Given the description of an element on the screen output the (x, y) to click on. 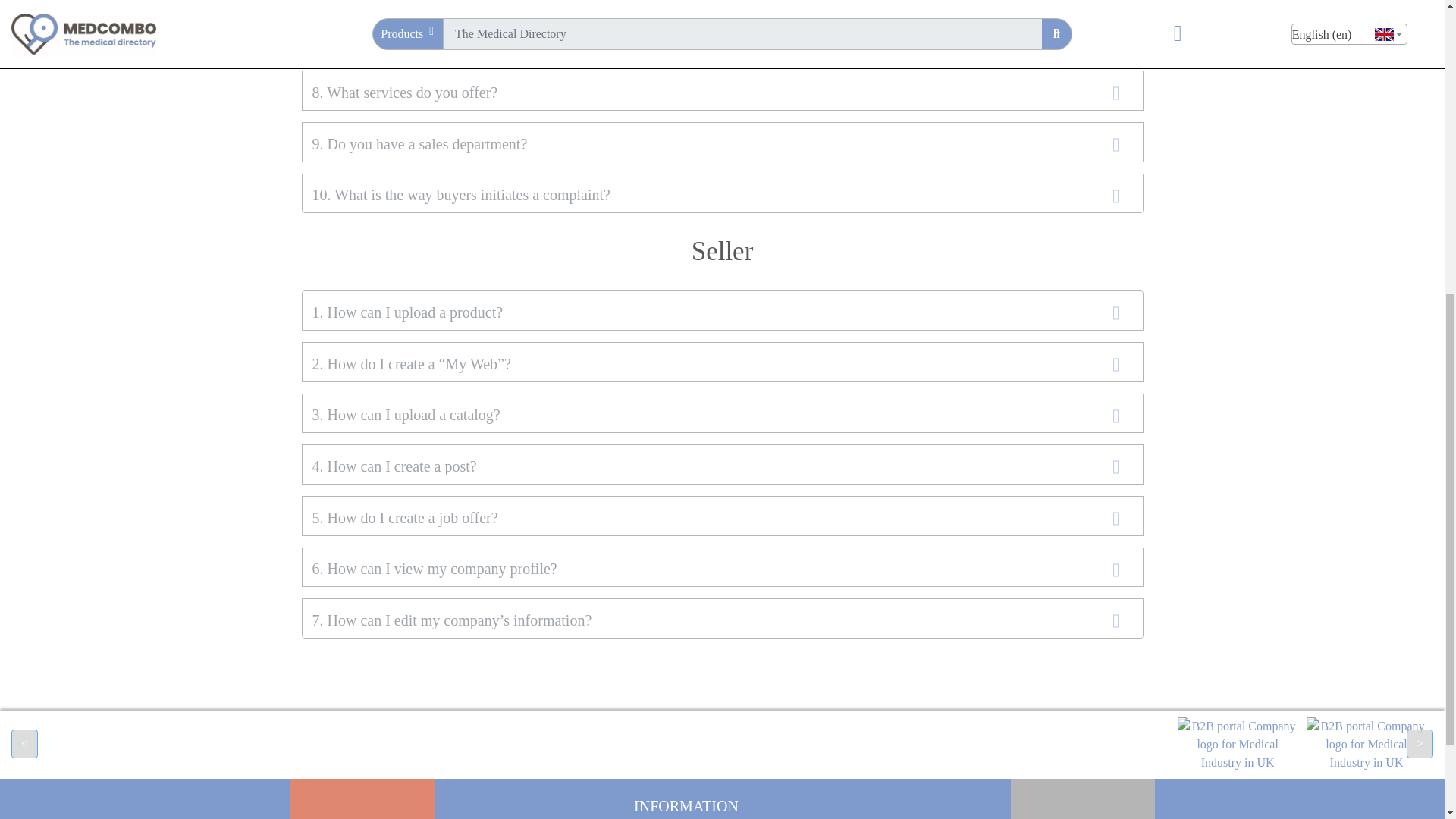
8. What services do you offer? (403, 92)
5. How do I create a job offer? (403, 517)
4. How can I create a post? (393, 466)
1. How can I upload a product? (406, 312)
Roal Sanitaria (1366, 743)
gloves (1237, 743)
7. Where is Medcombo located? (409, 40)
9. Do you have a sales department? (419, 143)
6. How can I view my company profile? (433, 568)
3. How can I upload a catalog? (405, 414)
10. What is the way buyers initiates a complaint? (460, 194)
